Given the description of an element on the screen output the (x, y) to click on. 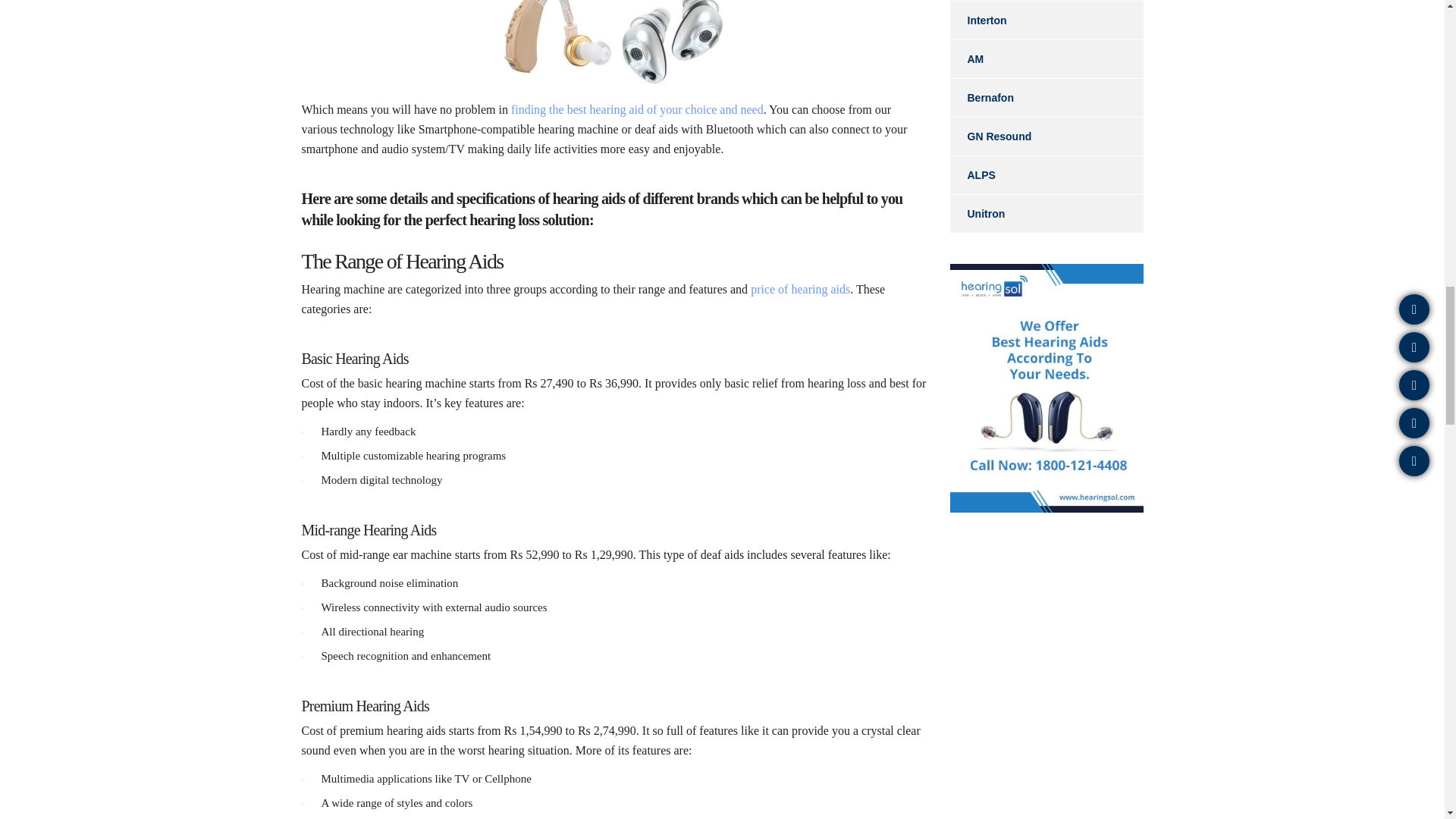
price of hearing aids (800, 288)
finding the best hearing aid of your choice and need (636, 109)
